Given the description of an element on the screen output the (x, y) to click on. 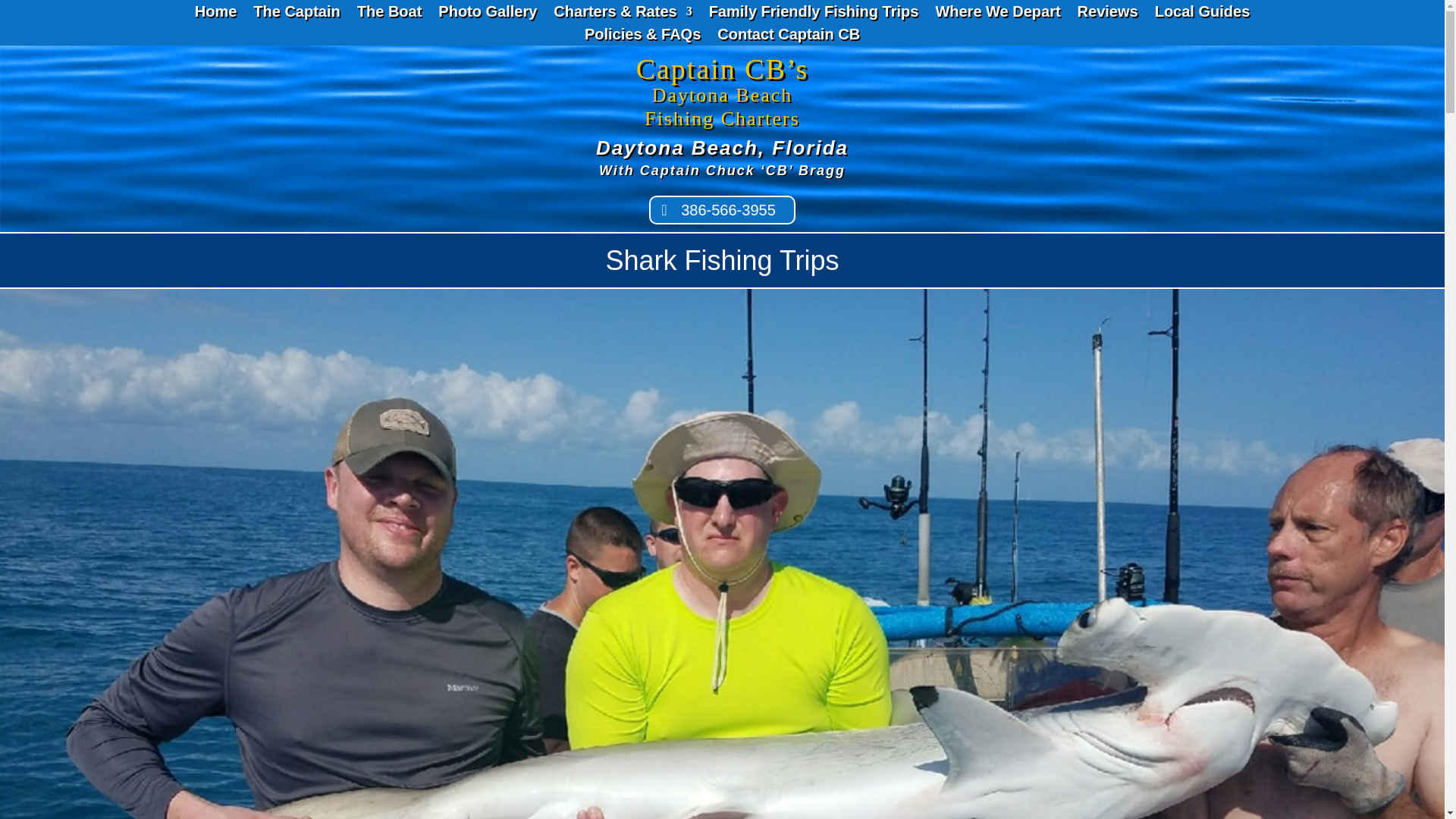
Photo Gallery (487, 13)
386-566-3955 (721, 209)
Family Friendly Fishing Trips (813, 13)
Reviews (1107, 13)
Local Guides (1202, 13)
The Boat (389, 13)
Contact Captain CB (788, 36)
Home (216, 13)
The Captain (296, 13)
Where We Depart (996, 13)
